Given the description of an element on the screen output the (x, y) to click on. 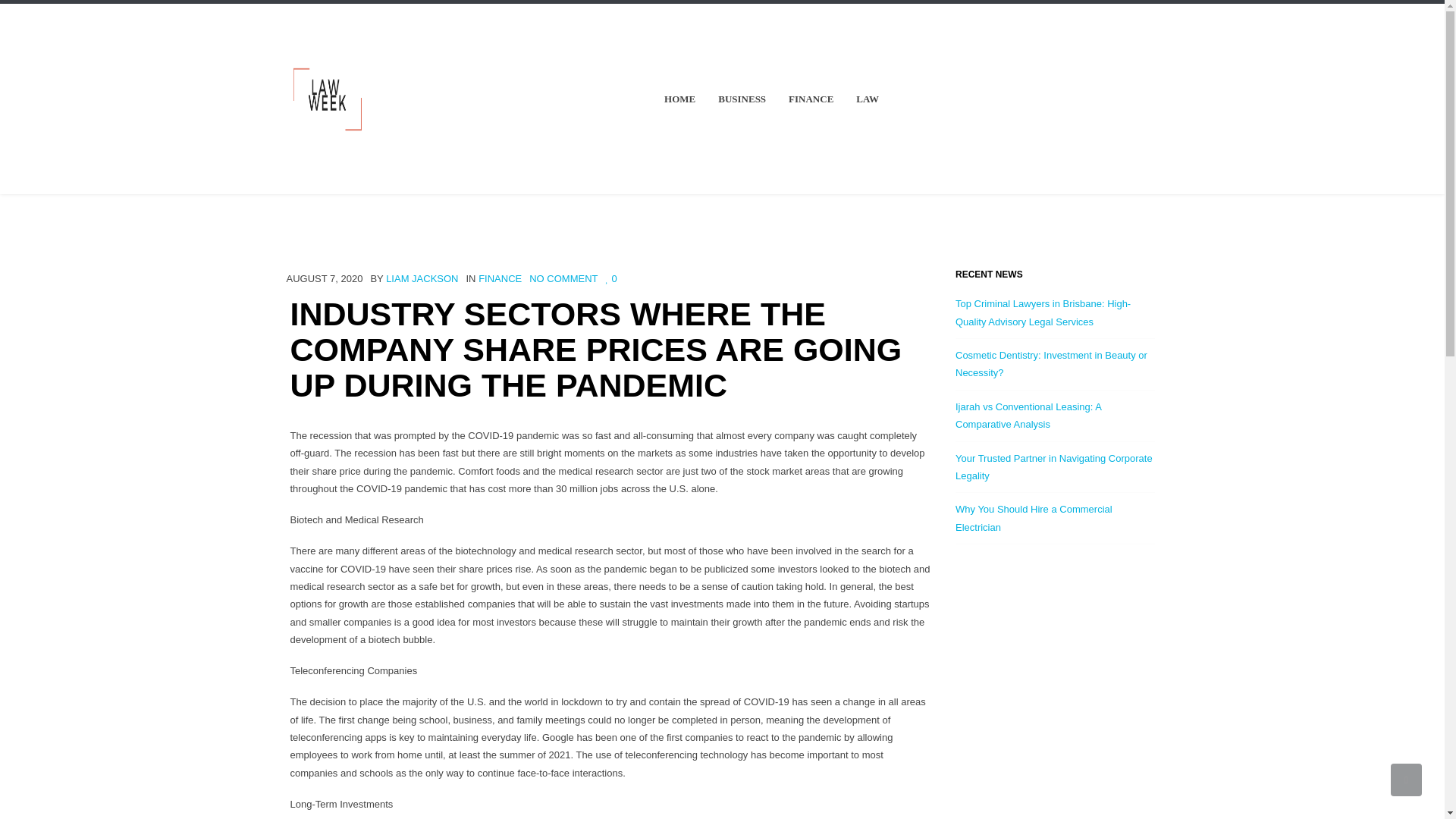
LIAM JACKSON (421, 278)
HOME (679, 99)
No Comment (562, 278)
FINANCE (500, 278)
NO COMMENT (562, 278)
Your Trusted Partner in Navigating Corporate Legality (1054, 466)
0 (610, 278)
Posts by Liam Jackson (421, 278)
Cosmetic Dentistry: Investment in Beauty or Necessity? (1051, 363)
FINANCE (810, 99)
BUSINESS (741, 99)
LAW (866, 99)
Ijarah vs Conventional Leasing: A Comparative Analysis (1027, 415)
